Given the description of an element on the screen output the (x, y) to click on. 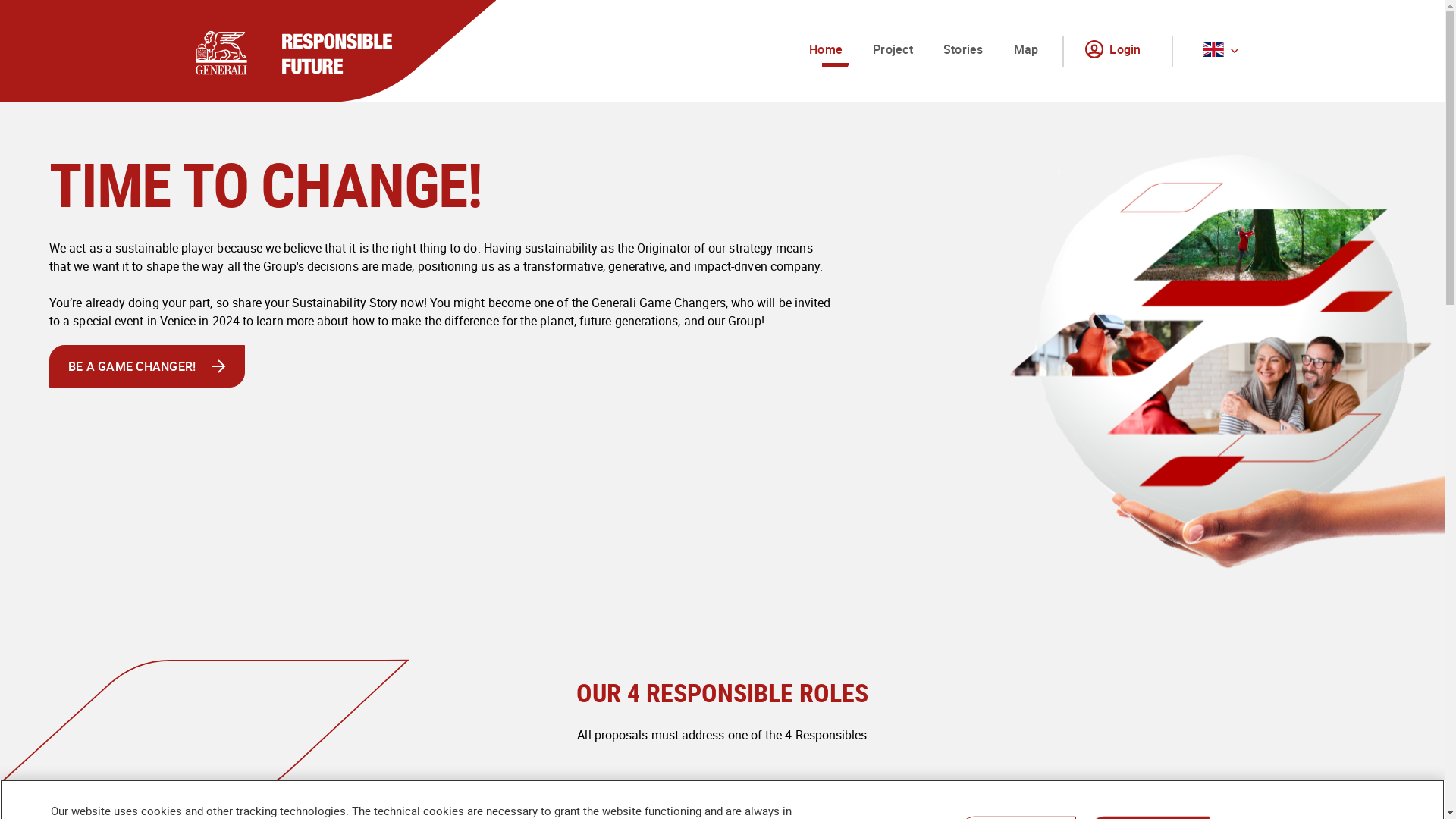
Stories Element type: text (963, 50)
Login Element type: text (1115, 50)
BE A GAME CHANGER! Element type: text (146, 366)
Project Element type: text (892, 50)
Home
(current) Element type: text (825, 50)
Map Element type: text (1025, 50)
